Given the description of an element on the screen output the (x, y) to click on. 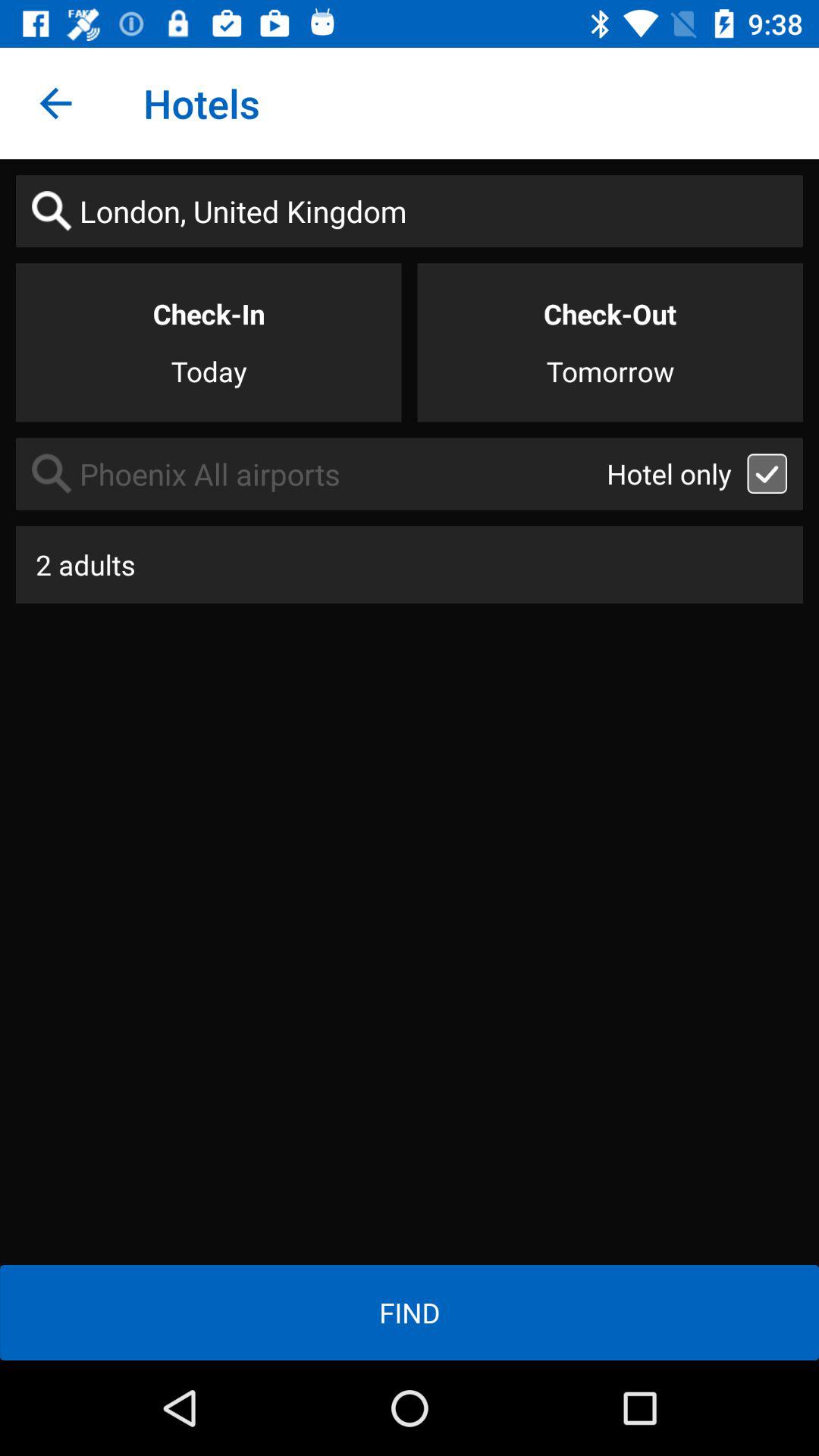
check option (767, 473)
